Given the description of an element on the screen output the (x, y) to click on. 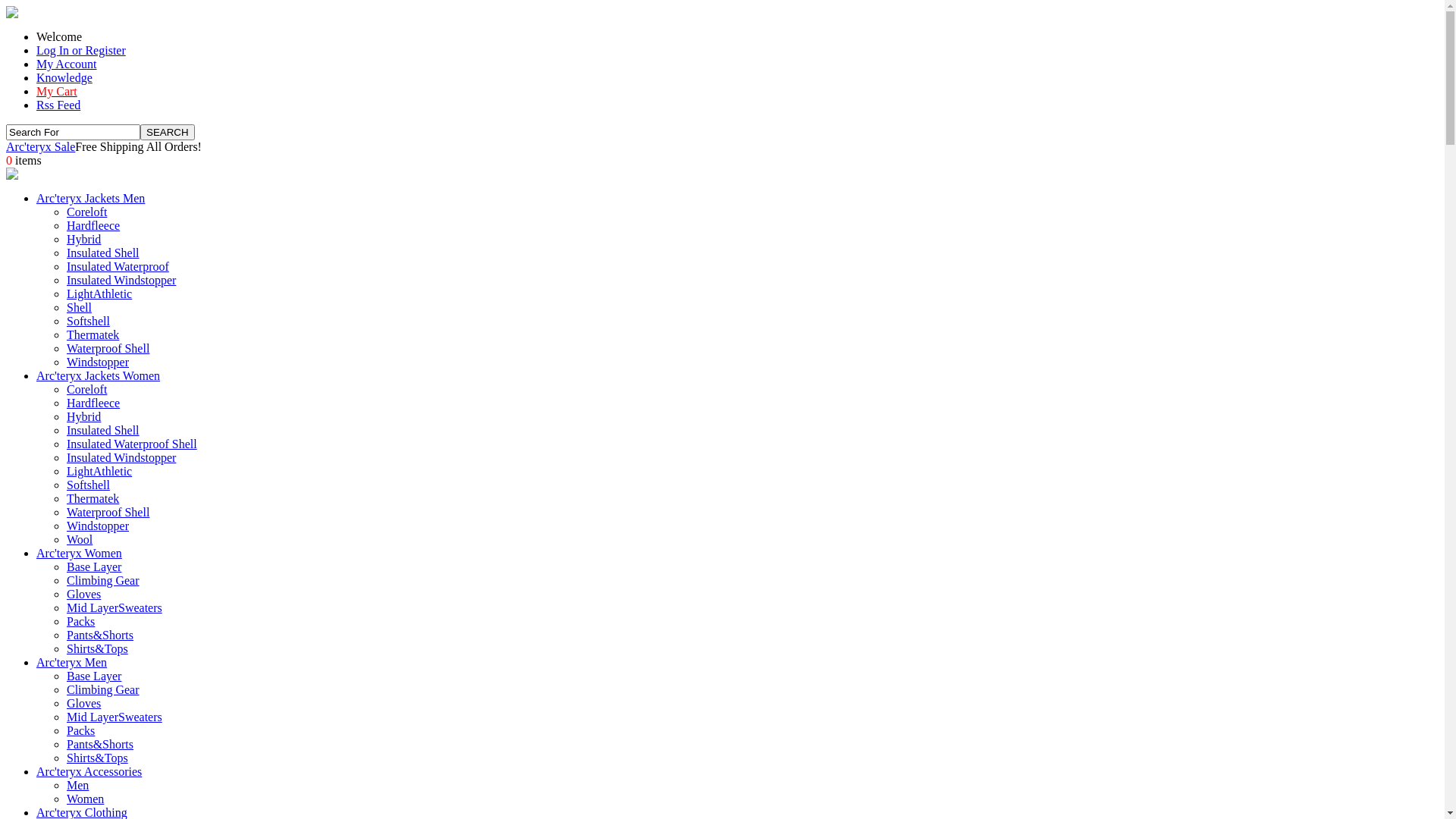
Windstopper Element type: text (97, 361)
Hardfleece Element type: text (92, 402)
Hardfleece Element type: text (92, 225)
My Cart Element type: text (56, 90)
Hybrid Element type: text (83, 238)
Coreloft Element type: text (86, 211)
Arc'teryx Jackets Men Element type: text (90, 197)
LightAthletic Element type: text (98, 470)
Arc'teryx Women Element type: text (79, 552)
Packs Element type: text (80, 730)
Waterproof Shell Element type: text (107, 511)
Waterproof Shell Element type: text (107, 348)
Climbing Gear Element type: text (102, 689)
Insulated Waterproof Element type: text (117, 266)
Women Element type: text (84, 798)
Mid LayerSweaters Element type: text (114, 607)
Pants&Shorts Element type: text (99, 743)
Thermatek Element type: text (92, 334)
Pants&Shorts Element type: text (99, 634)
Windstopper Element type: text (97, 525)
Gloves Element type: text (83, 593)
Arc'teryx Men Element type: text (71, 661)
Log In or Register Element type: text (80, 49)
Shirts&Tops Element type: text (97, 648)
Shirts&Tops Element type: text (97, 757)
Rss Feed Element type: text (58, 104)
Base Layer Element type: text (93, 675)
Insulated Windstopper Element type: text (120, 457)
Insulated Shell Element type: text (102, 429)
Insulated Shell Element type: text (102, 252)
Arc'teryx Sale Element type: text (40, 146)
Packs Element type: text (80, 621)
Checkout Element type: hover (12, 175)
Insulated Waterproof Shell Element type: text (131, 443)
Knowledge Element type: text (64, 77)
Hybrid Element type: text (83, 416)
Softshell Element type: text (87, 484)
Softshell Element type: text (87, 320)
LightAthletic Element type: text (98, 293)
Climbing Gear Element type: text (102, 580)
Mid LayerSweaters Element type: text (114, 716)
Men Element type: text (77, 784)
Arc'teryx Accessories Element type: text (88, 771)
Shell Element type: text (78, 307)
My Account Element type: text (66, 63)
Base Layer Element type: text (93, 566)
SEARCH Element type: text (167, 132)
Insulated Windstopper Element type: text (120, 279)
Thermatek Element type: text (92, 498)
Arc'teryx Jackets Women Element type: text (98, 375)
Gloves Element type: text (83, 702)
Coreloft Element type: text (86, 388)
Wool Element type: text (79, 539)
